Given the description of an element on the screen output the (x, y) to click on. 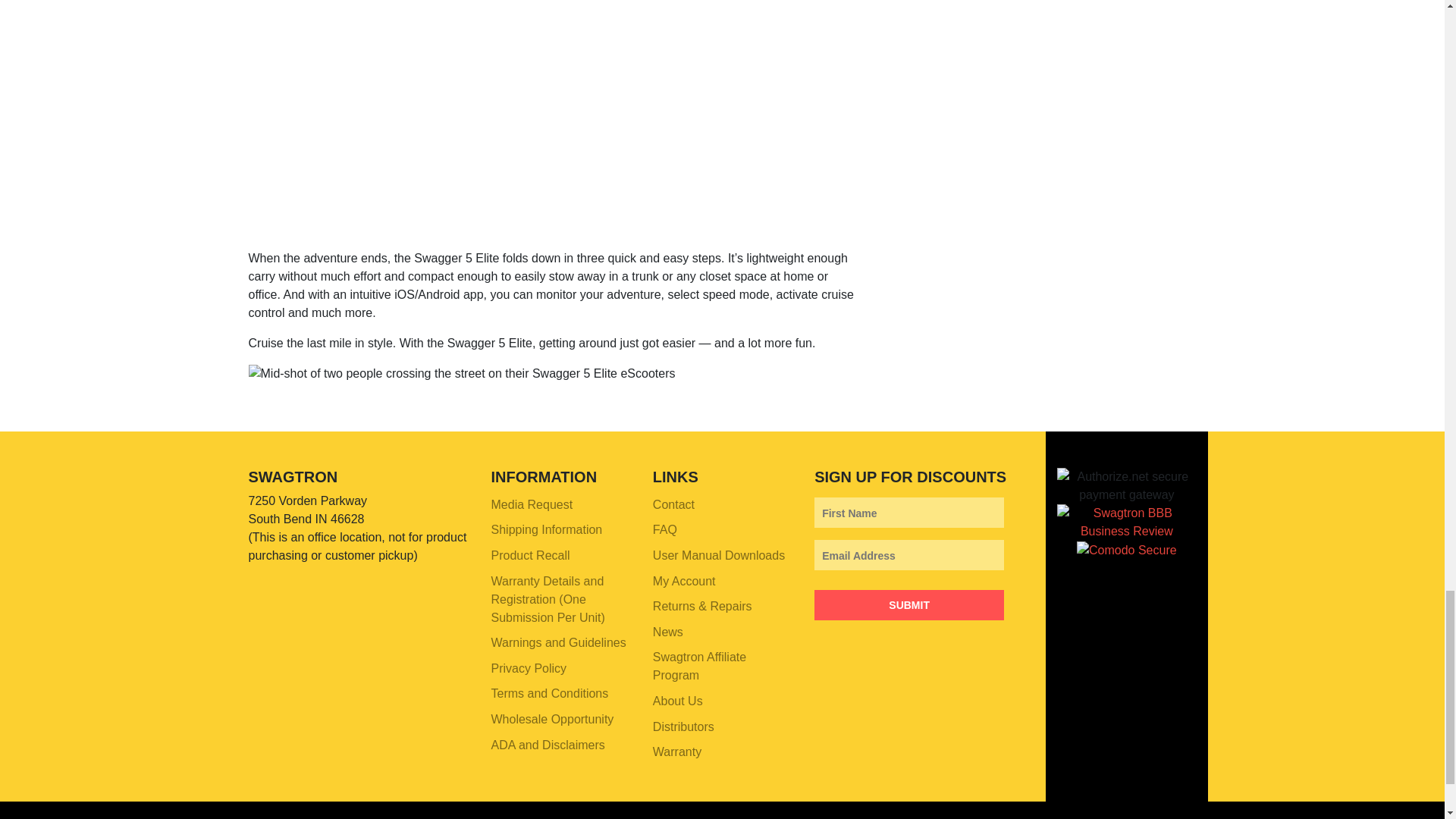
Shipping Information (561, 530)
About Us (722, 701)
News (722, 632)
Submit (908, 604)
Wholesale Opportunity (561, 719)
ADA and Disclaimers (561, 745)
Swagtron Affiliate Program (722, 667)
Warnings and Guidelines (561, 642)
Privacy Policy (561, 668)
Terms and Conditions (561, 694)
